Given the description of an element on the screen output the (x, y) to click on. 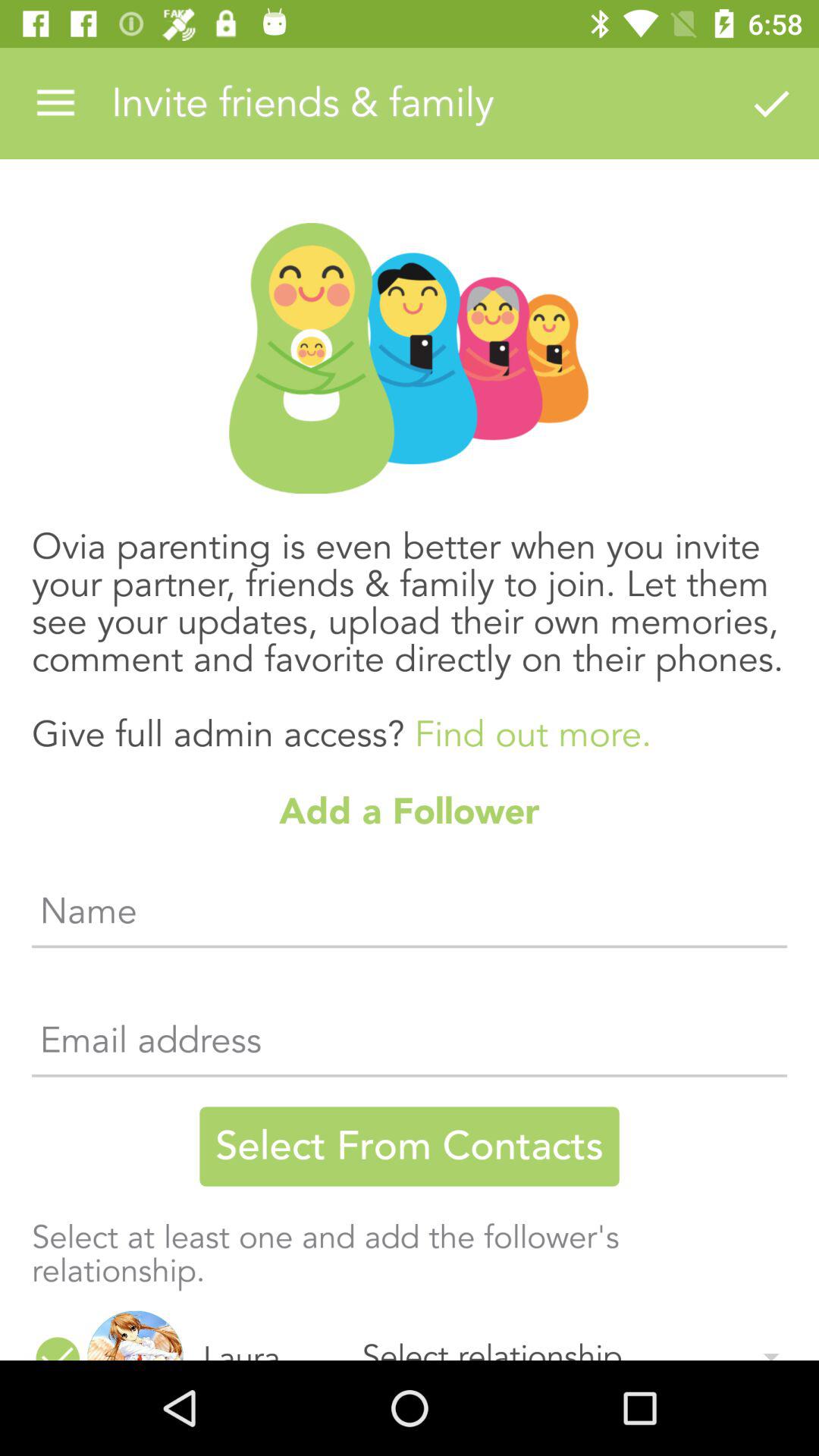
launch the item to the right of invite friends & family icon (771, 103)
